Given the description of an element on the screen output the (x, y) to click on. 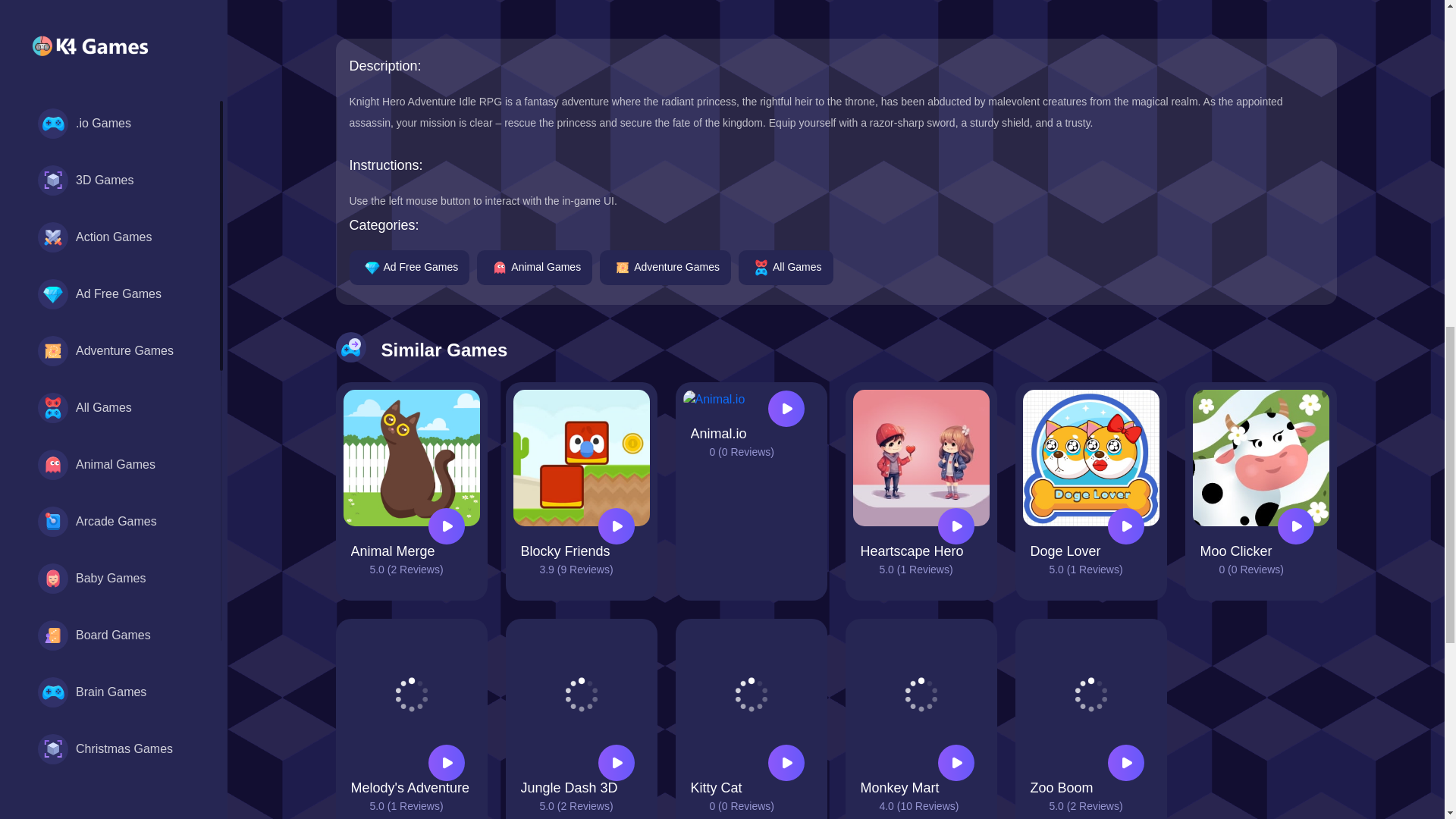
Advertisement (707, 19)
Advertisement (1217, 11)
